Given the description of an element on the screen output the (x, y) to click on. 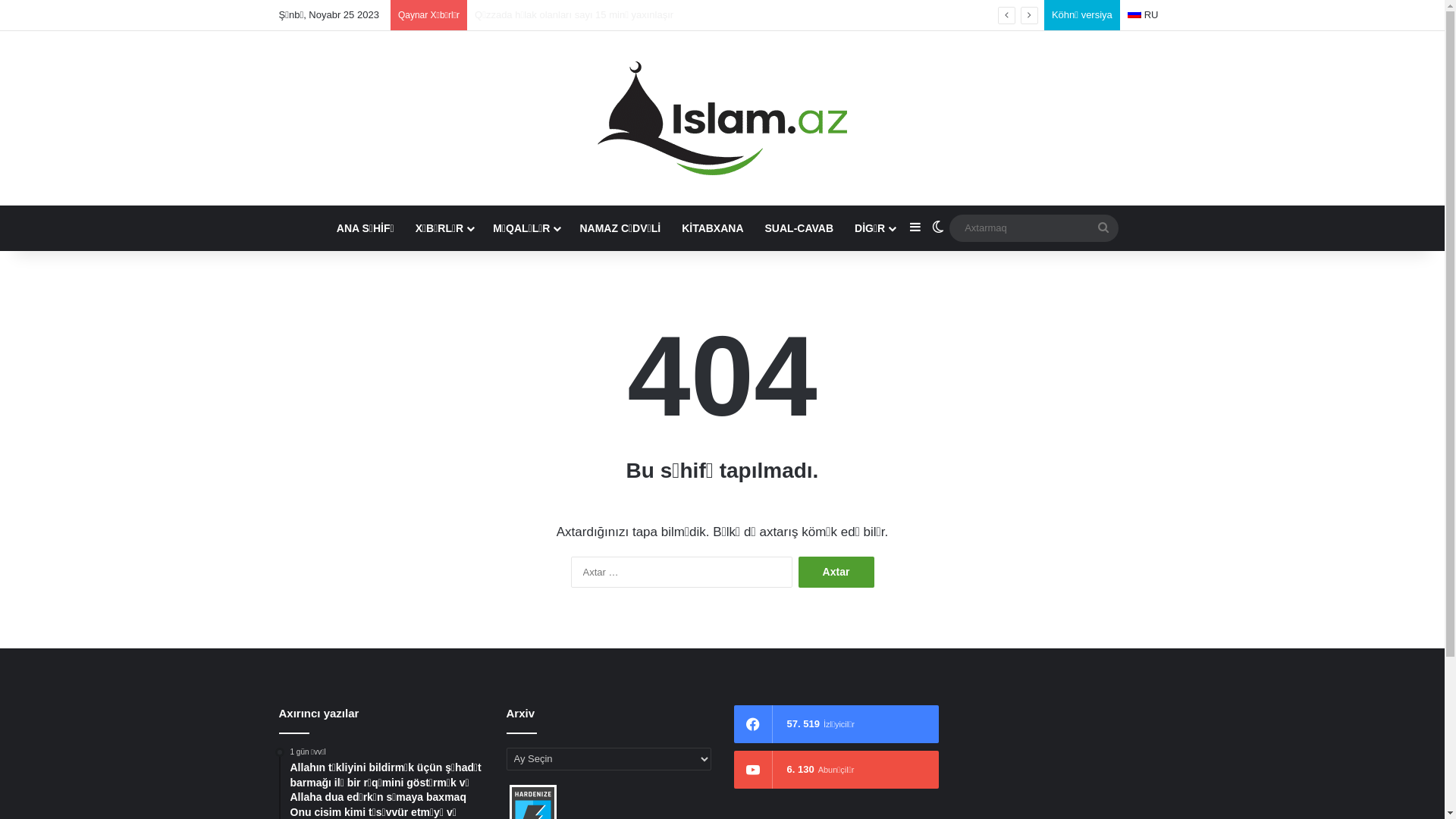
islam.az Element type: hover (722, 118)
Switch skin Element type: text (937, 228)
KITABXANA Element type: text (712, 228)
RU Element type: text (1143, 15)
SUAL-CAVAB Element type: text (799, 228)
Axtarmaq Element type: text (1103, 227)
Sidebar Element type: text (914, 228)
Axtarmaq Element type: hover (1033, 227)
Axtar Element type: text (835, 571)
